Given the description of an element on the screen output the (x, y) to click on. 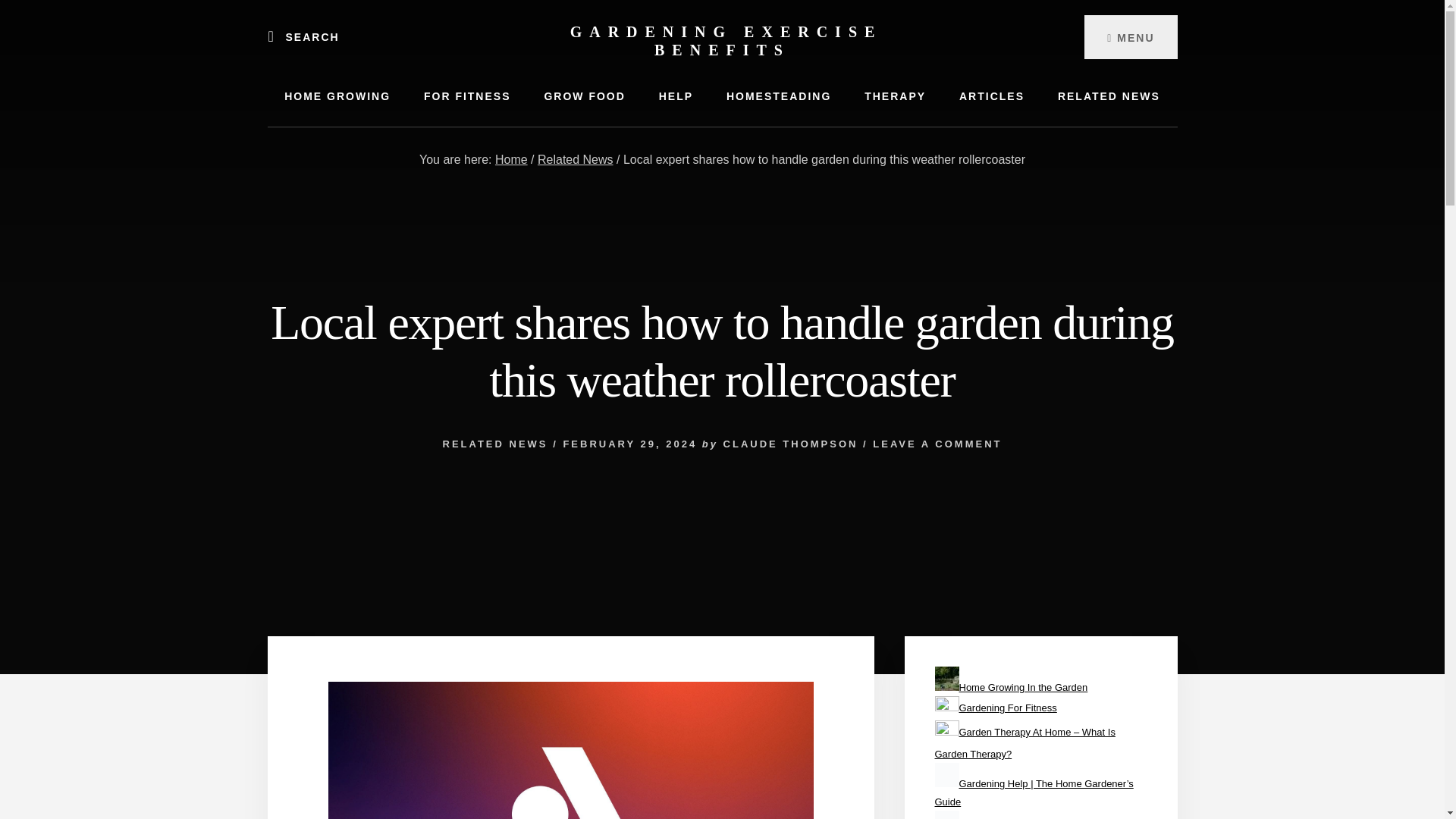
CLAUDE THOMPSON (791, 443)
Home Growing In the Garden (1022, 686)
Related News (574, 159)
GARDENING EXERCISE BENEFITS (726, 40)
HOMESTEADING (778, 96)
LEAVE A COMMENT (936, 443)
Home (511, 159)
Gardening For Fitness (1007, 707)
GROW FOOD (584, 96)
